Given the description of an element on the screen output the (x, y) to click on. 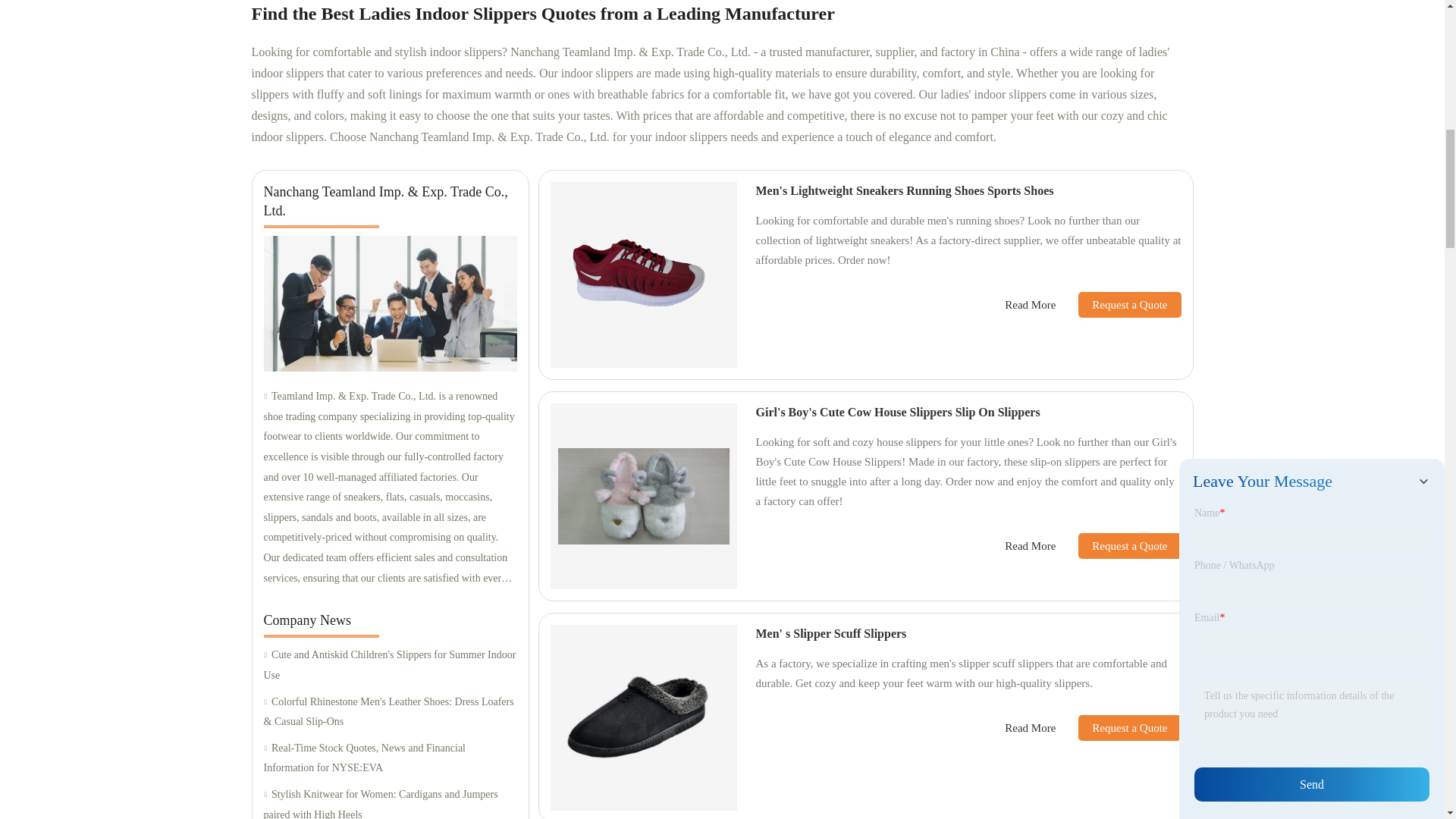
Read More (1029, 304)
Request a Quote (1117, 545)
Read More (1029, 546)
Request a Quote (1117, 304)
Cute and Antiskid Children's Slippers for Summer Indoor Use (389, 665)
Men's Lightweight Sneakers Running Shoes Sports Shoes (903, 190)
Girl's Boy's Cute Cow House Slippers Slip On Slippers (897, 411)
